Given the description of an element on the screen output the (x, y) to click on. 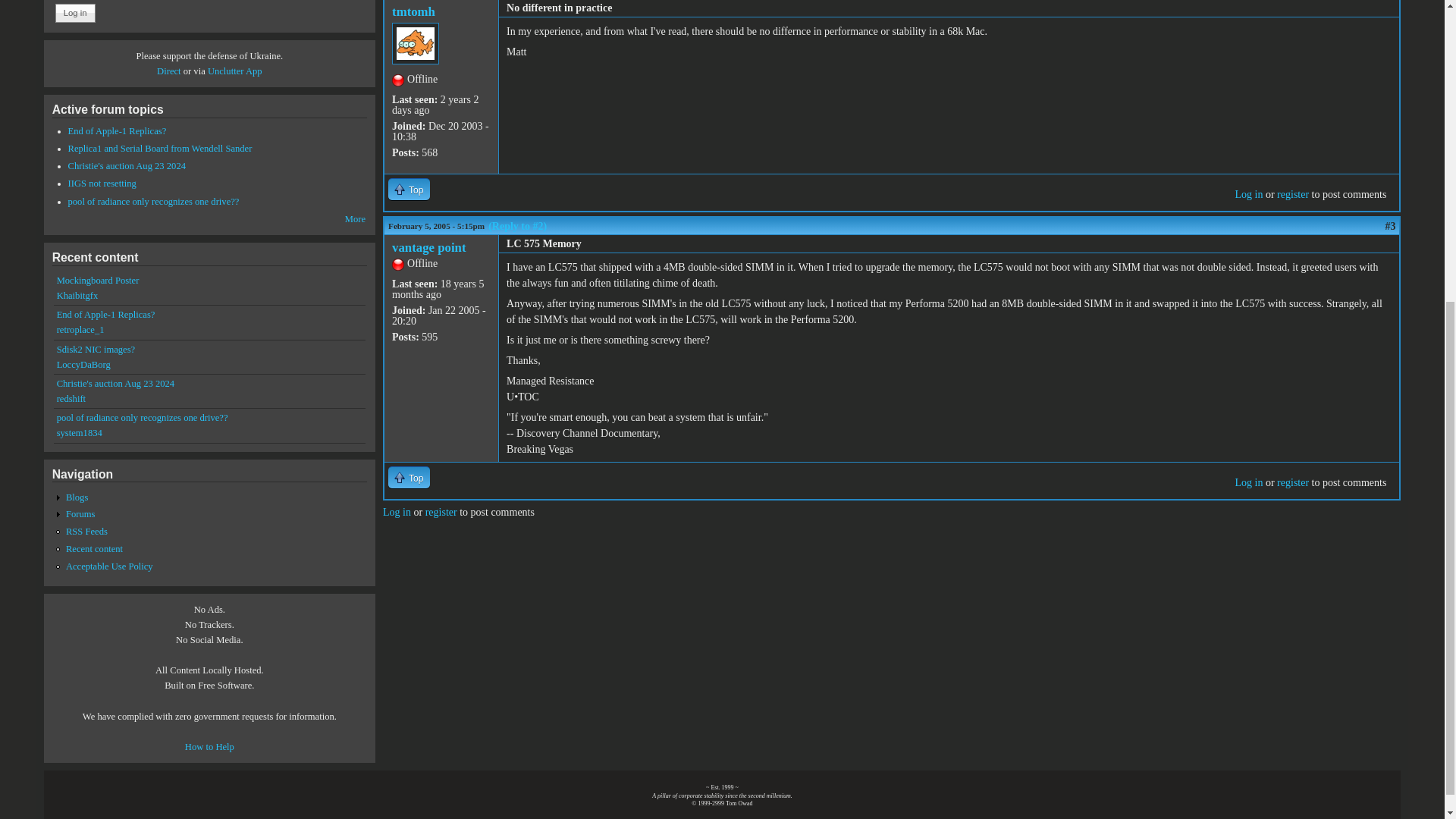
tmtomh's picture (415, 43)
View user profile. (428, 247)
Log in (1248, 482)
4 comments (159, 148)
Log in (75, 13)
tmtomh (413, 11)
Jump to top of page (408, 188)
6 comments (127, 165)
vantage point (428, 247)
register (1292, 482)
